Given the description of an element on the screen output the (x, y) to click on. 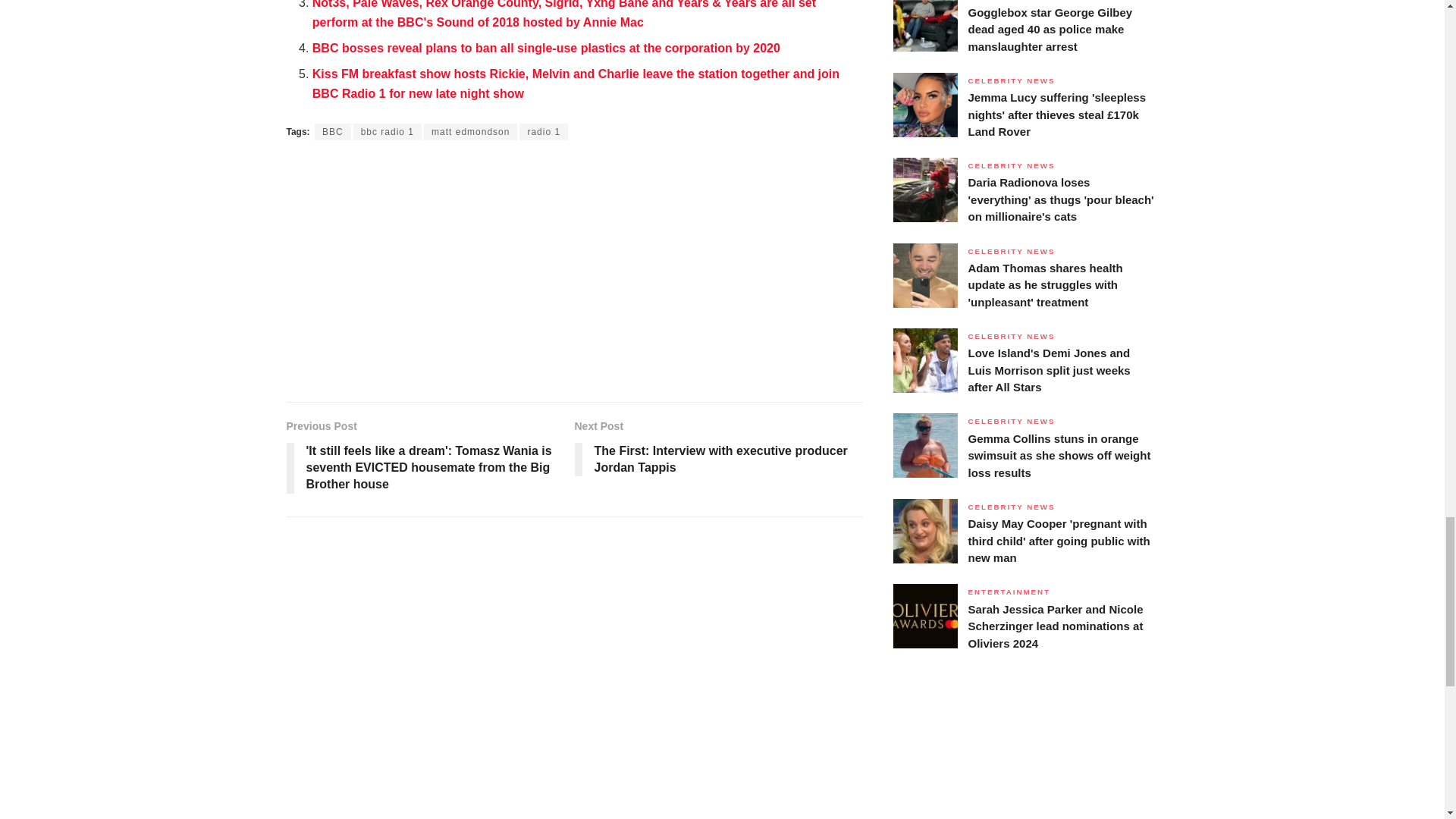
Advertisement (574, 273)
Advertisement (1023, 759)
